Given the description of an element on the screen output the (x, y) to click on. 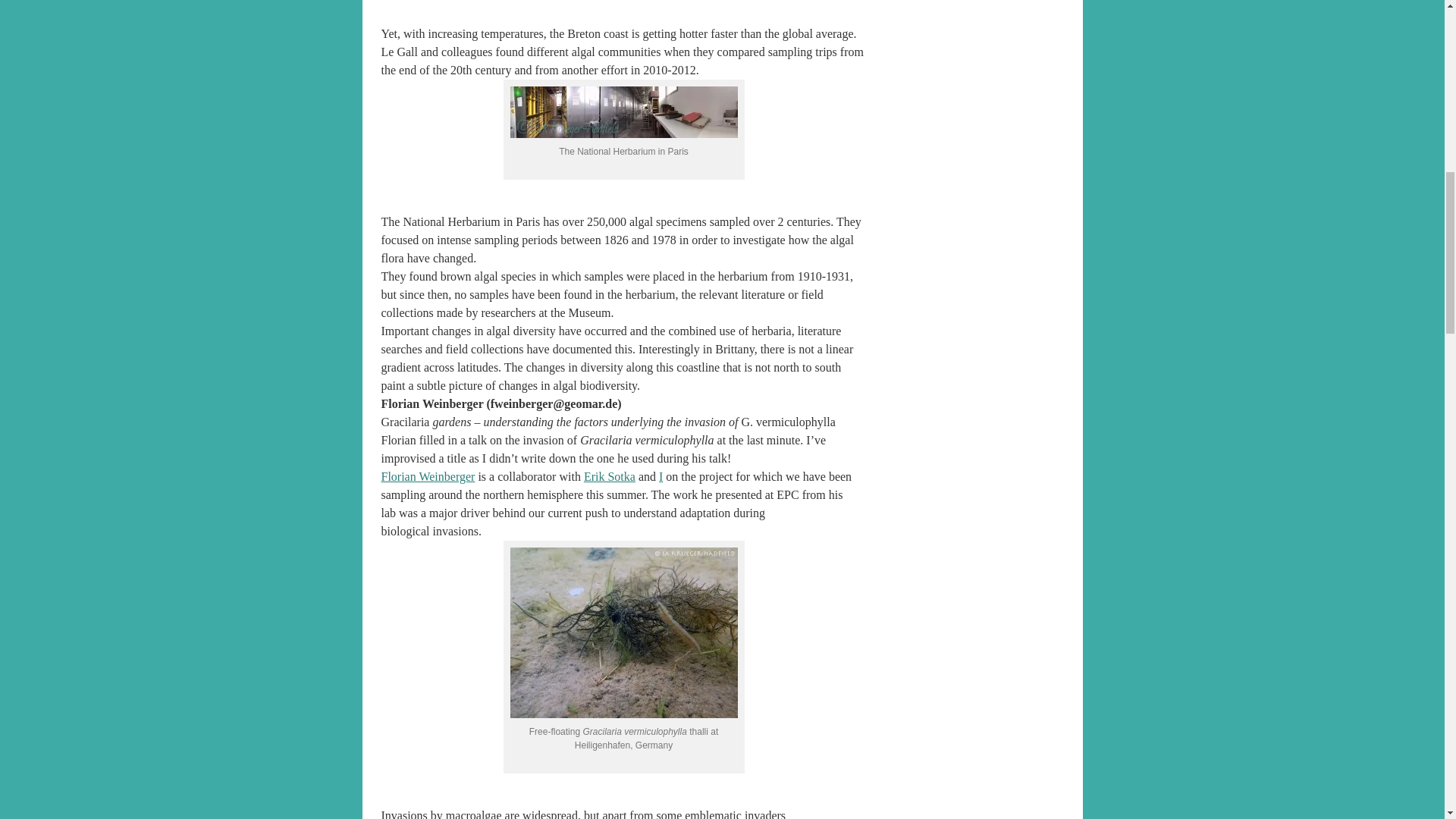
Florian Weinberger (427, 476)
Erik Sotka (608, 476)
